Given the description of an element on the screen output the (x, y) to click on. 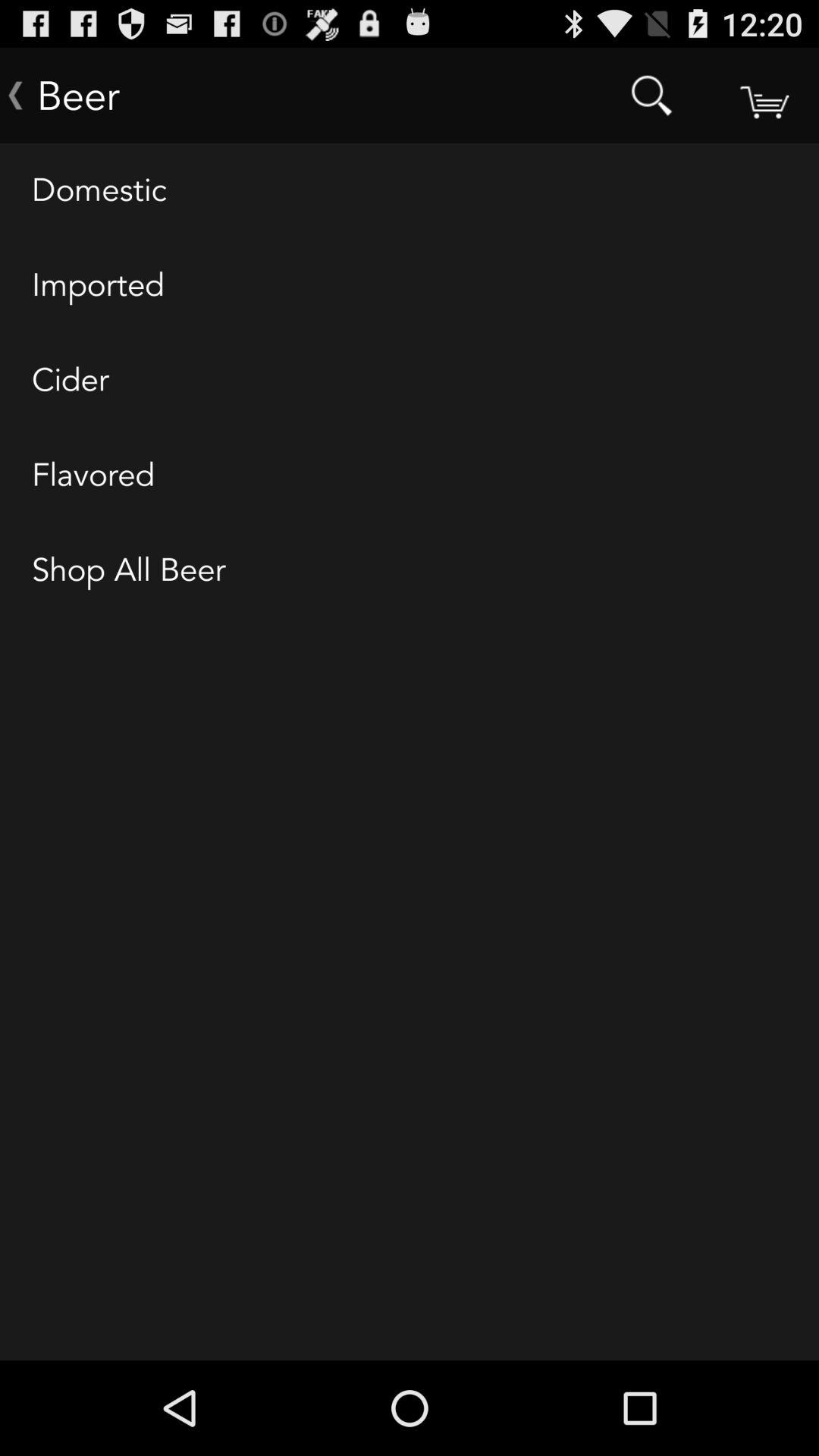
open the item above flavored (409, 380)
